Given the description of an element on the screen output the (x, y) to click on. 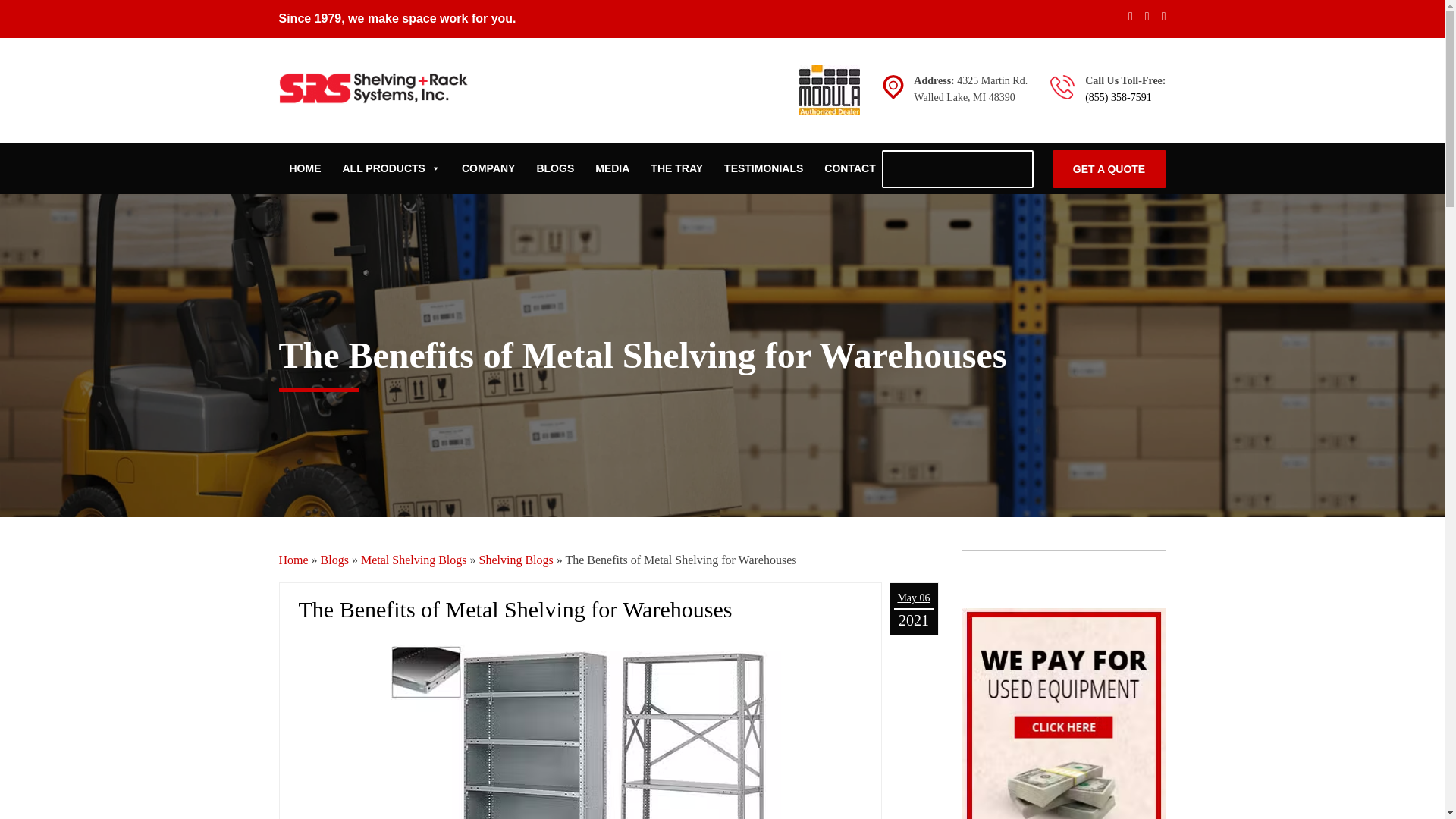
HOME (305, 168)
Search for: (956, 168)
Search (1018, 169)
Search (1018, 169)
ALL PRODUCTS (391, 168)
